Given the description of an element on the screen output the (x, y) to click on. 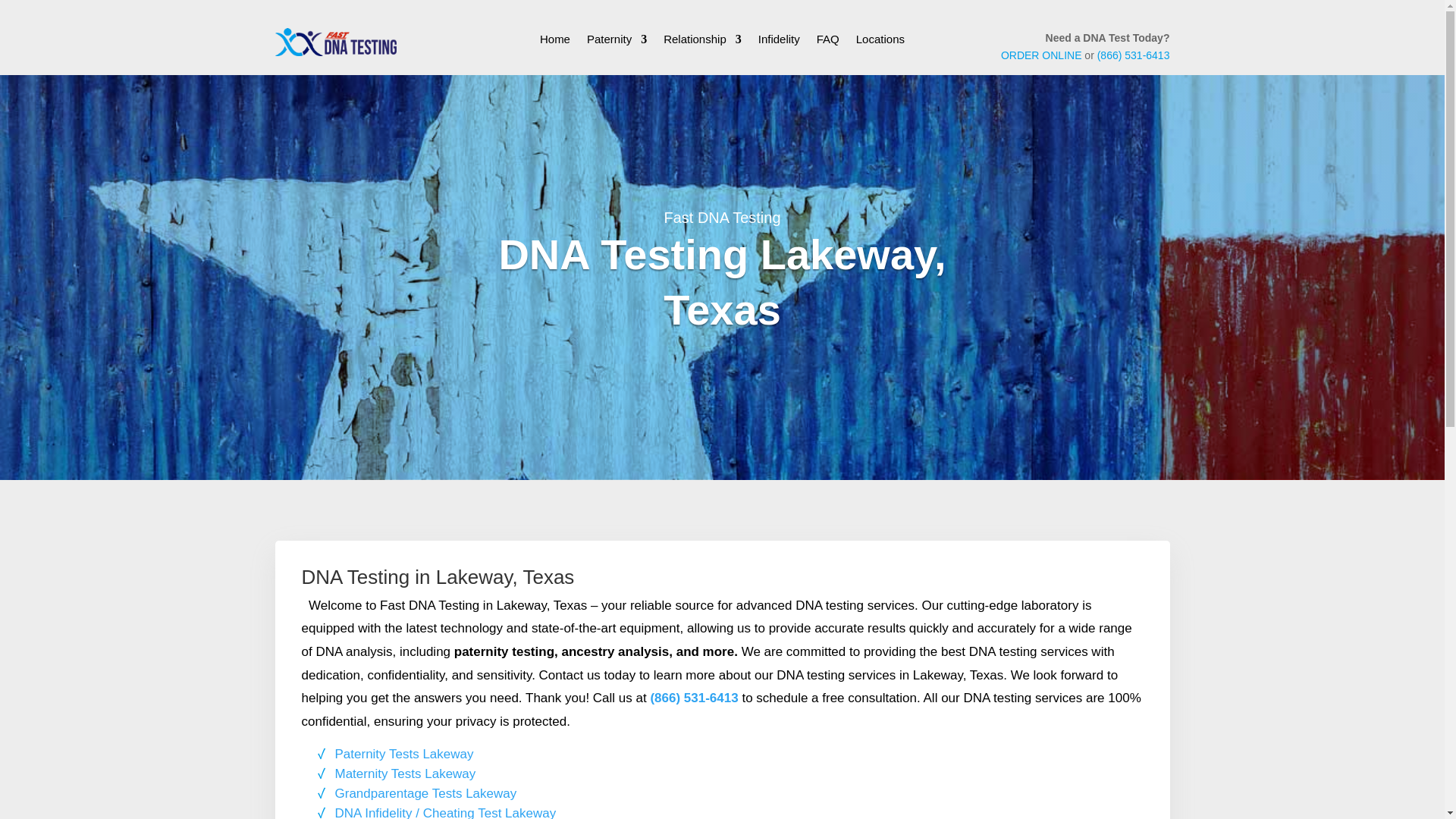
Maternity Tests Lakeway (405, 773)
ORDER ONLINE (1041, 55)
Relationship (702, 42)
FAQ (828, 42)
Locations (880, 42)
Infidelity (778, 42)
Grandparentage Tests Lakeway (425, 793)
Paternity (616, 42)
Paternity Tests Lakeway (404, 753)
Home (555, 42)
